Given the description of an element on the screen output the (x, y) to click on. 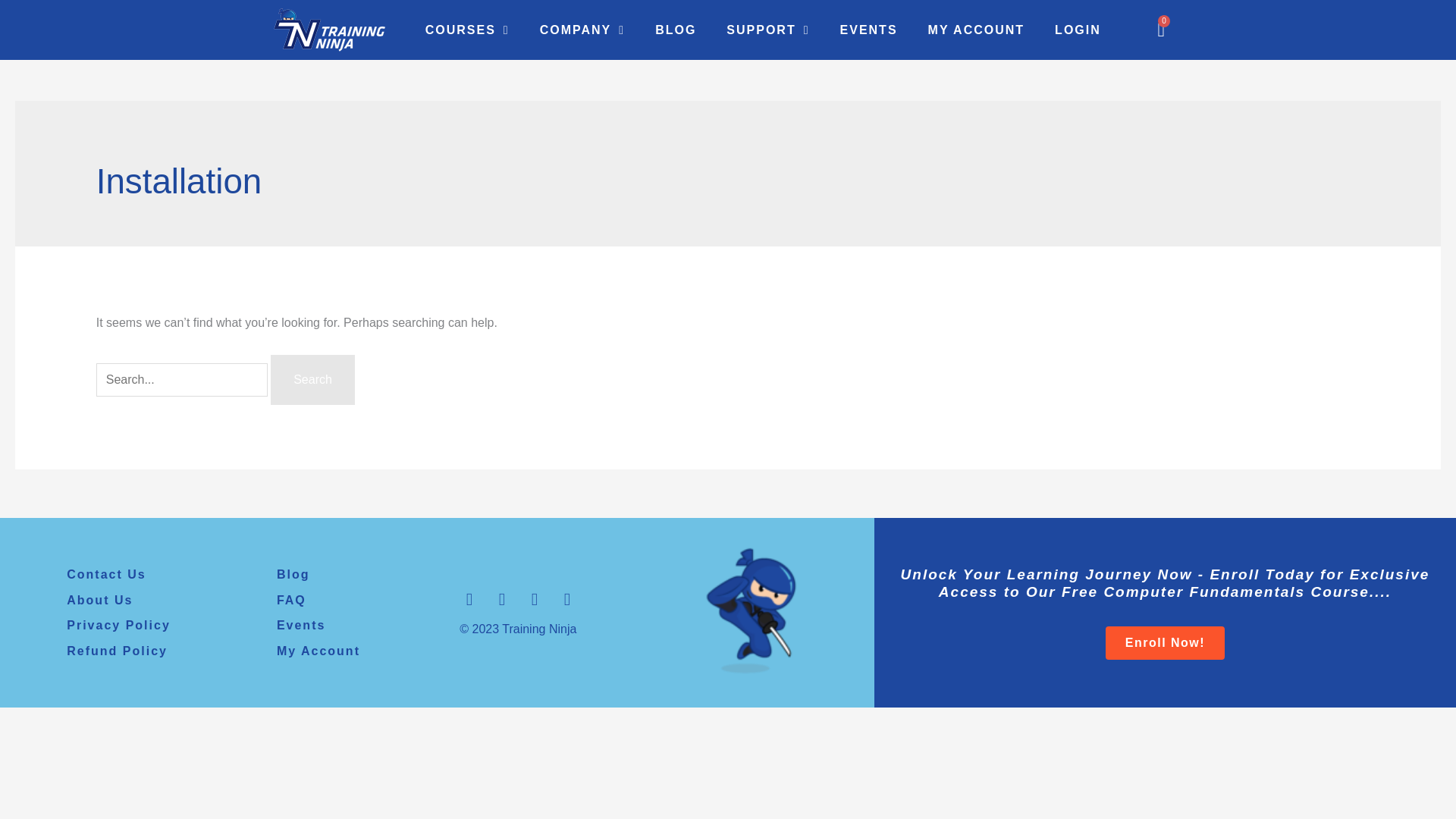
MY ACCOUNT (976, 29)
EVENTS (1160, 29)
COURSES (868, 29)
SUPPORT (467, 29)
LOGIN (767, 29)
Search (1077, 29)
BLOG (312, 379)
Search (675, 29)
COMPANY (312, 379)
